Given the description of an element on the screen output the (x, y) to click on. 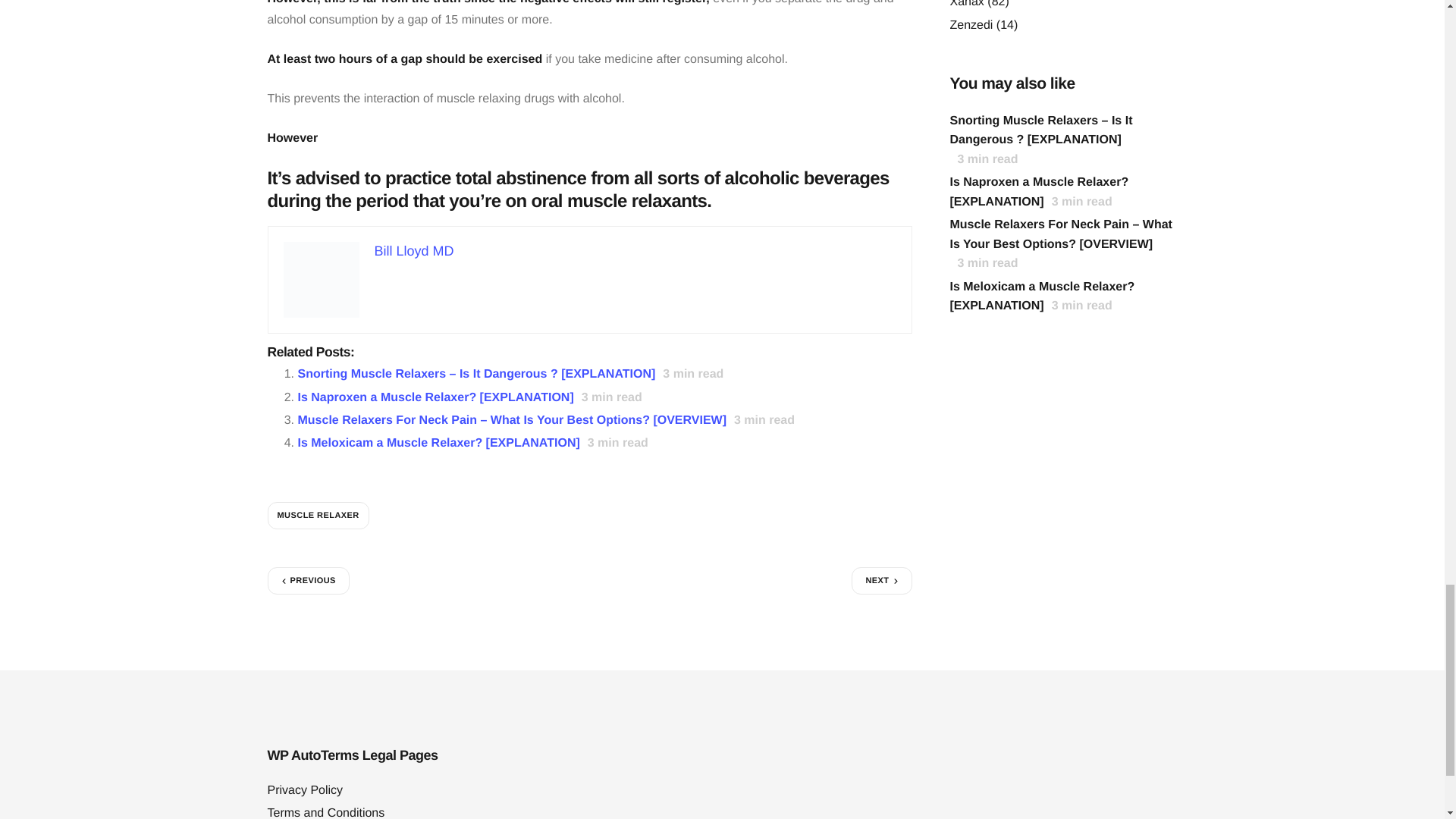
Bill Lloyd MD (414, 250)
PREVIOUS (307, 580)
MUSCLE RELAXER (317, 515)
NEXT (881, 580)
